Given the description of an element on the screen output the (x, y) to click on. 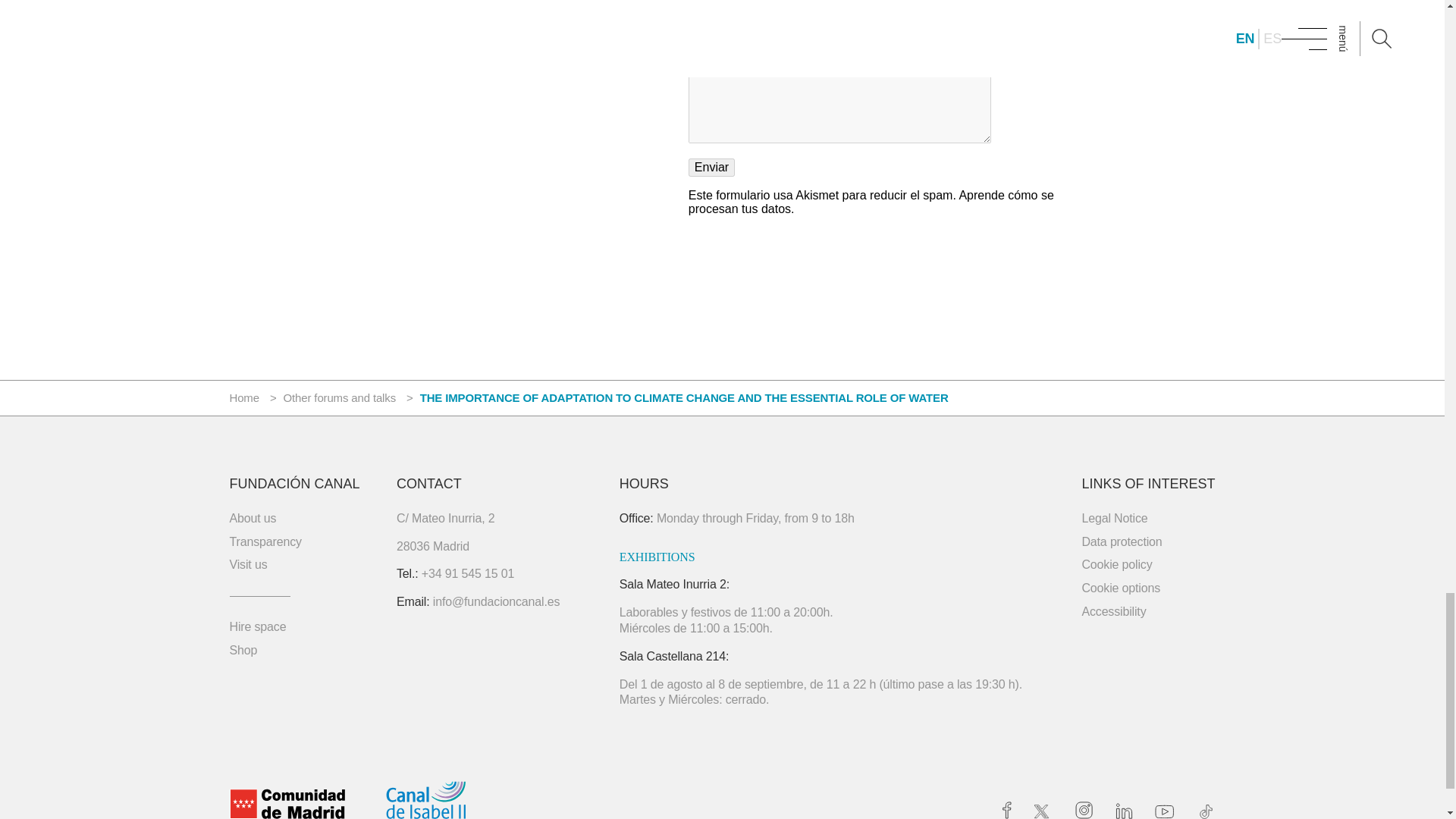
Enviar (711, 167)
